Given the description of an element on the screen output the (x, y) to click on. 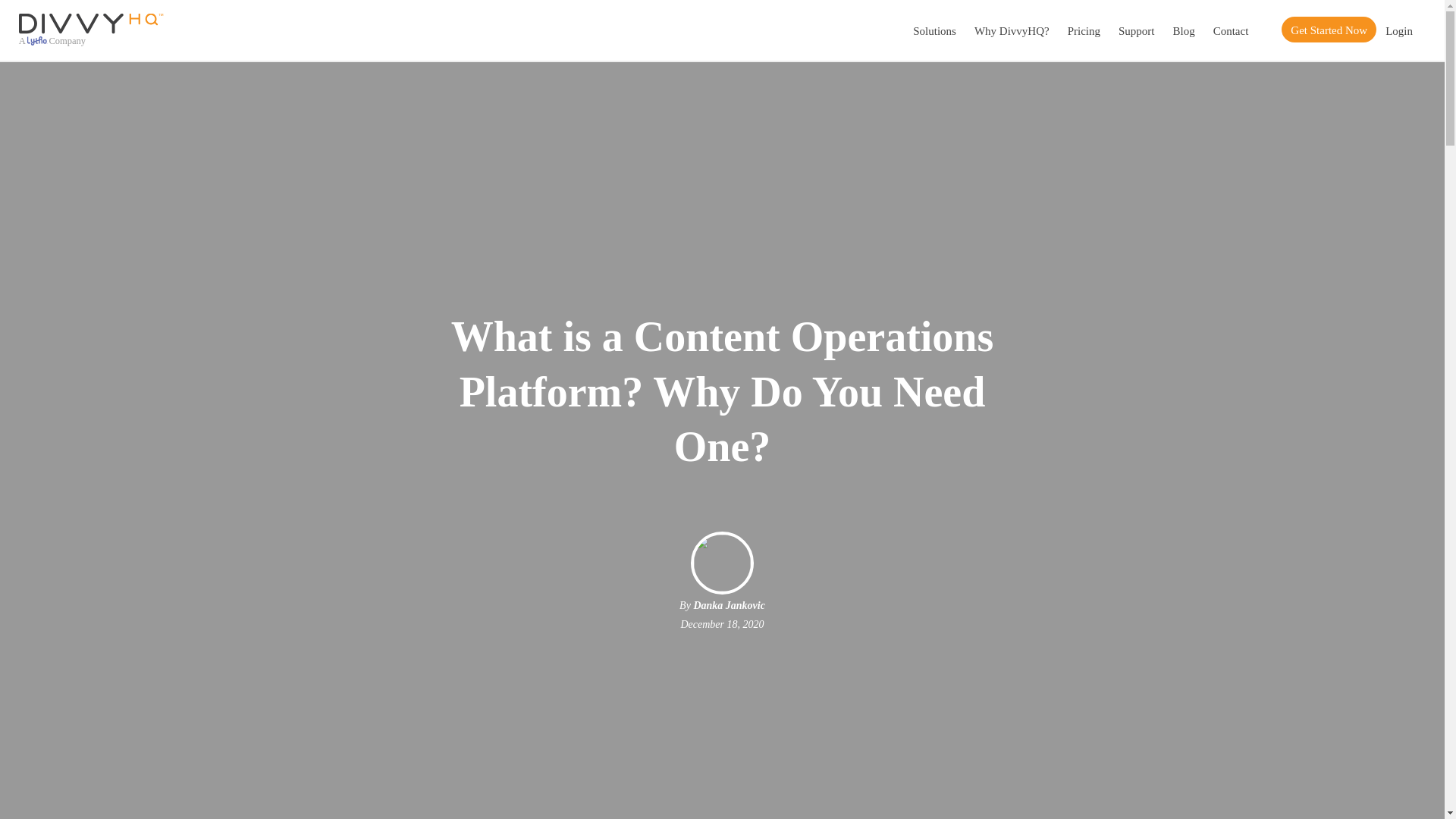
Solutions (934, 31)
Why DivvyHQ? (1011, 31)
Why DivvyHQ? (1011, 31)
December 18, 2020 (720, 624)
Contact (1230, 31)
Pricing (1083, 31)
Login (1398, 31)
Contact (1230, 31)
Blog (1183, 31)
Support (1136, 31)
